Given the description of an element on the screen output the (x, y) to click on. 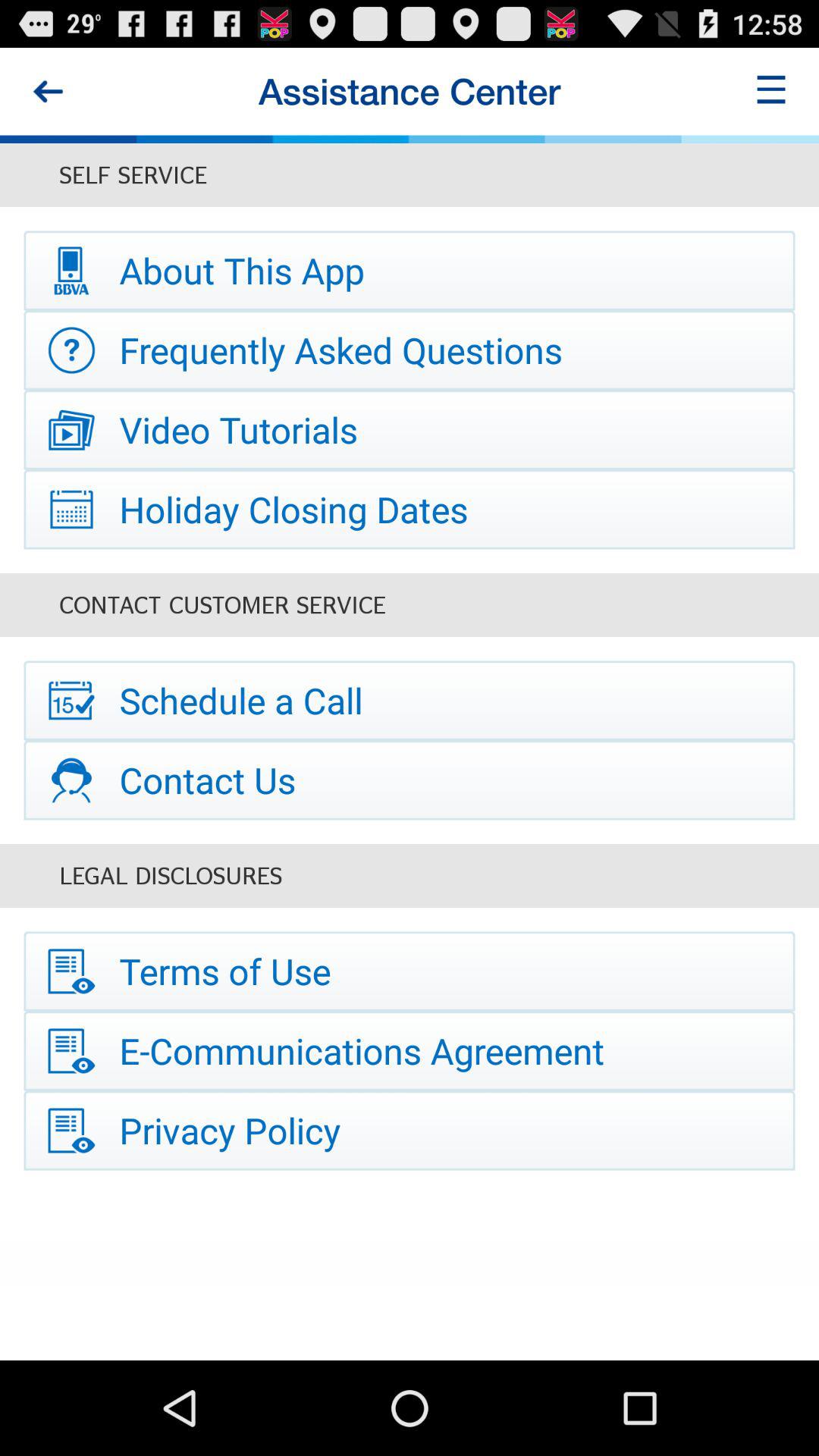
select item above e-communications agreement (409, 971)
